Given the description of an element on the screen output the (x, y) to click on. 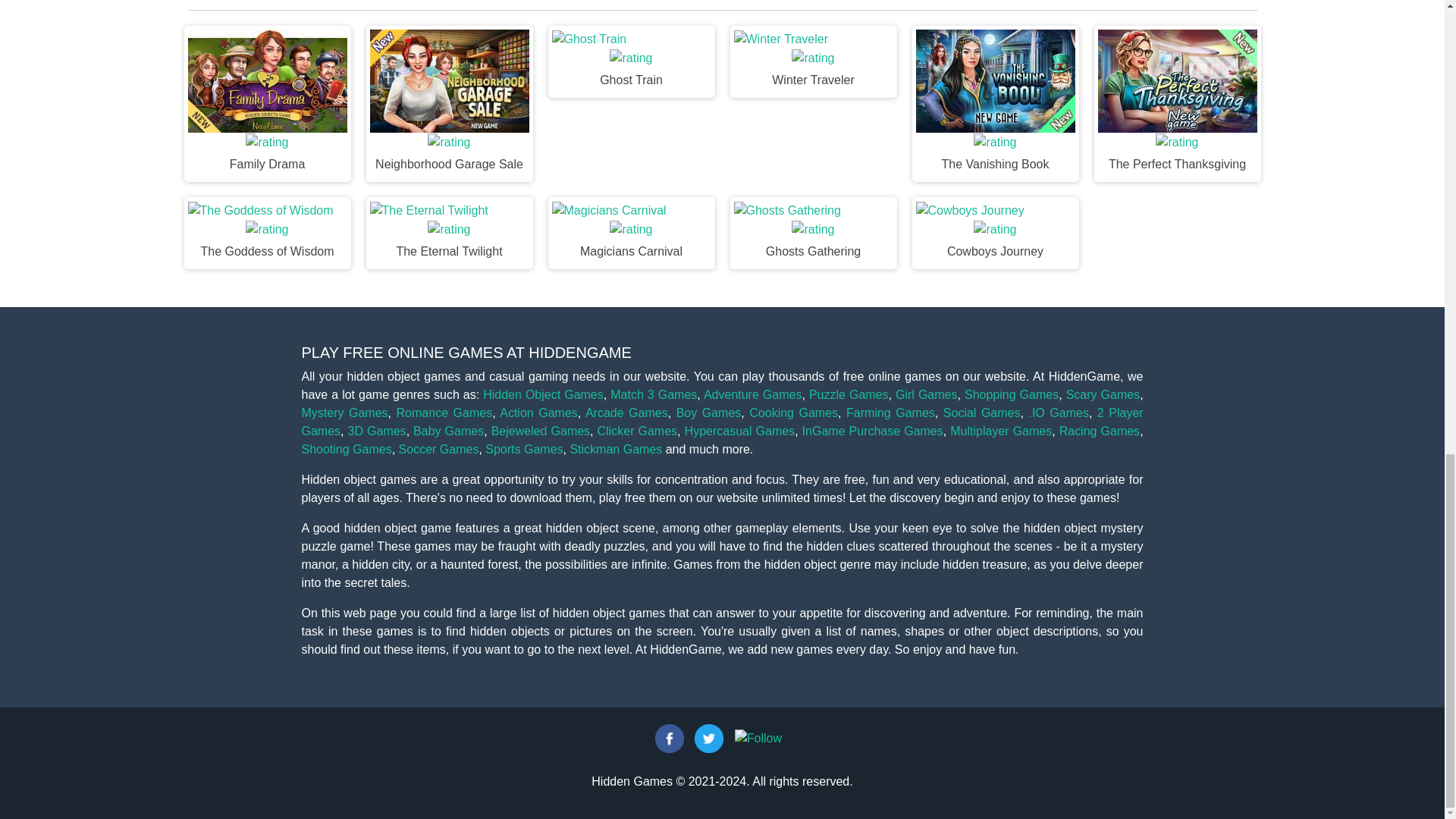
All Bejeweled Games (540, 431)
All 3D Games (376, 431)
All Puzzle Games (848, 394)
All Cooking Games (793, 412)
All Baby Games (448, 431)
All Social Games (981, 412)
All .IO Games (1057, 412)
All Match 3 Games (653, 394)
All Farming Games (889, 412)
All Shopping Games (1010, 394)
